Given the description of an element on the screen output the (x, y) to click on. 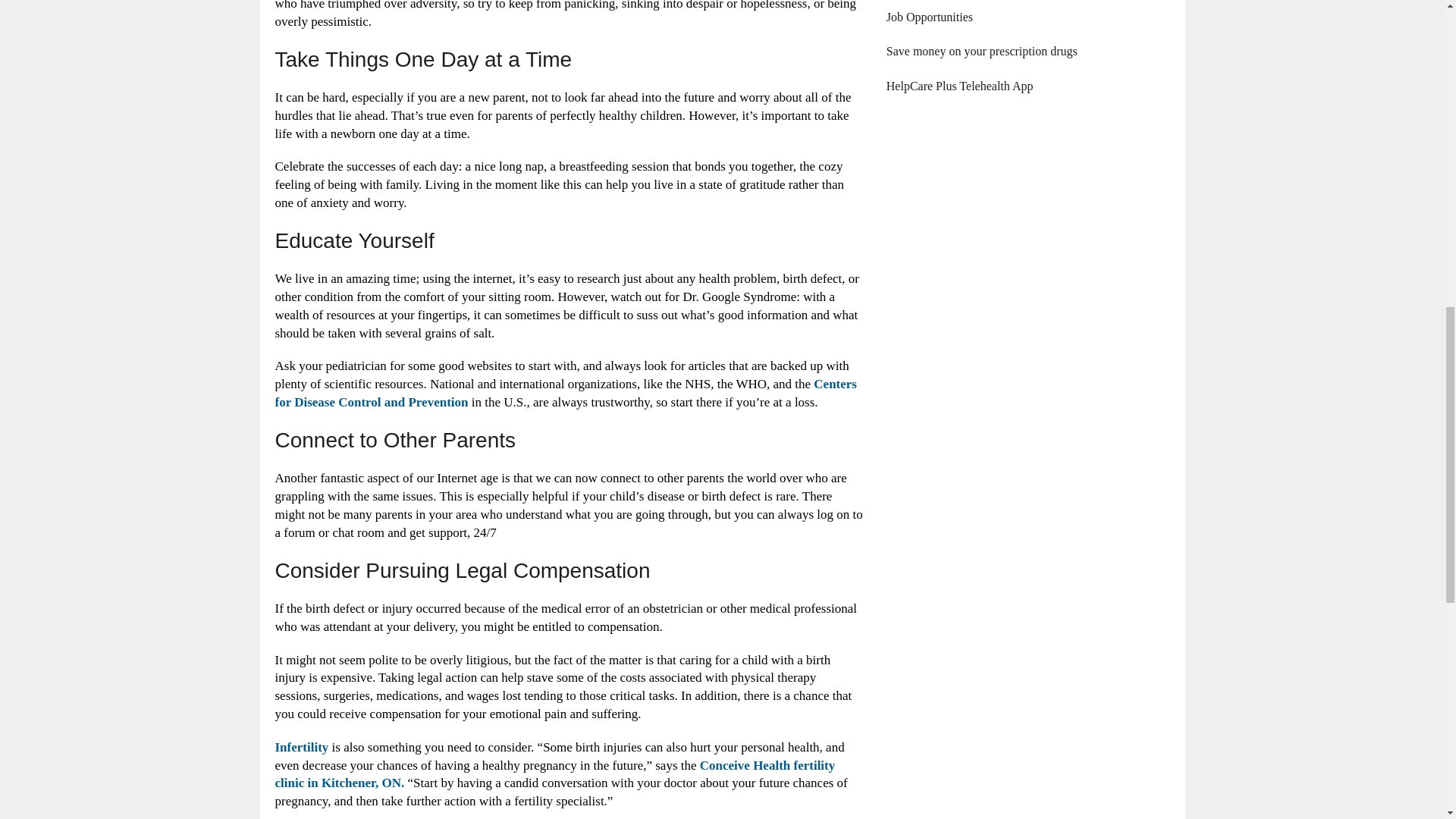
Conceive Health fertility clinic in Kitchener, ON. (554, 774)
Infertility (302, 747)
Job Opportunities (929, 16)
Centers for Disease Control and Prevention (565, 392)
